Given the description of an element on the screen output the (x, y) to click on. 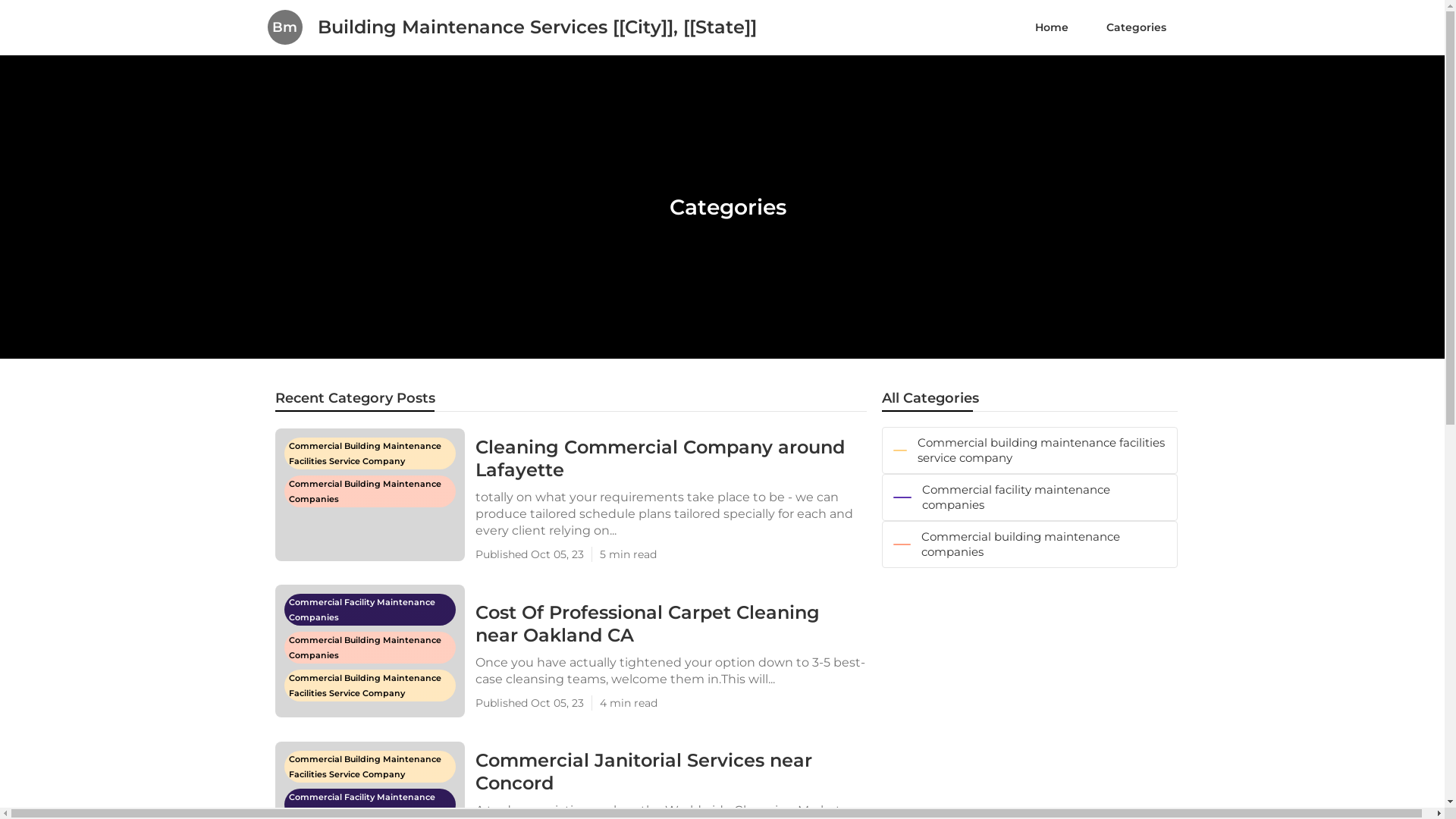
Commercial Building Maintenance Facilities Service Company Element type: text (369, 757)
Commercial Building Maintenance Companies Element type: text (372, 658)
Commercial building maintenance companies Element type: text (1028, 543)
Commercial facility maintenance companies Element type: text (1028, 496)
Commercial Building Maintenance Companies Element type: text (372, 501)
Commercial building maintenance facilities service company Element type: text (1028, 449)
Commercial Building Maintenance Facilities Service Company Element type: text (369, 444)
Commercial Janitorial Services near Concord Element type: text (670, 771)
Cleaning Commercial Company around Lafayette Element type: text (670, 458)
Commercial Facility Maintenance Companies Element type: text (369, 601)
Commercial Building Maintenance Facilities Service Company Element type: text (372, 695)
Categories Element type: text (1136, 26)
Cost Of Professional Carpet Cleaning near Oakland CA Element type: text (670, 623)
Home Element type: text (1051, 26)
